Given the description of an element on the screen output the (x, y) to click on. 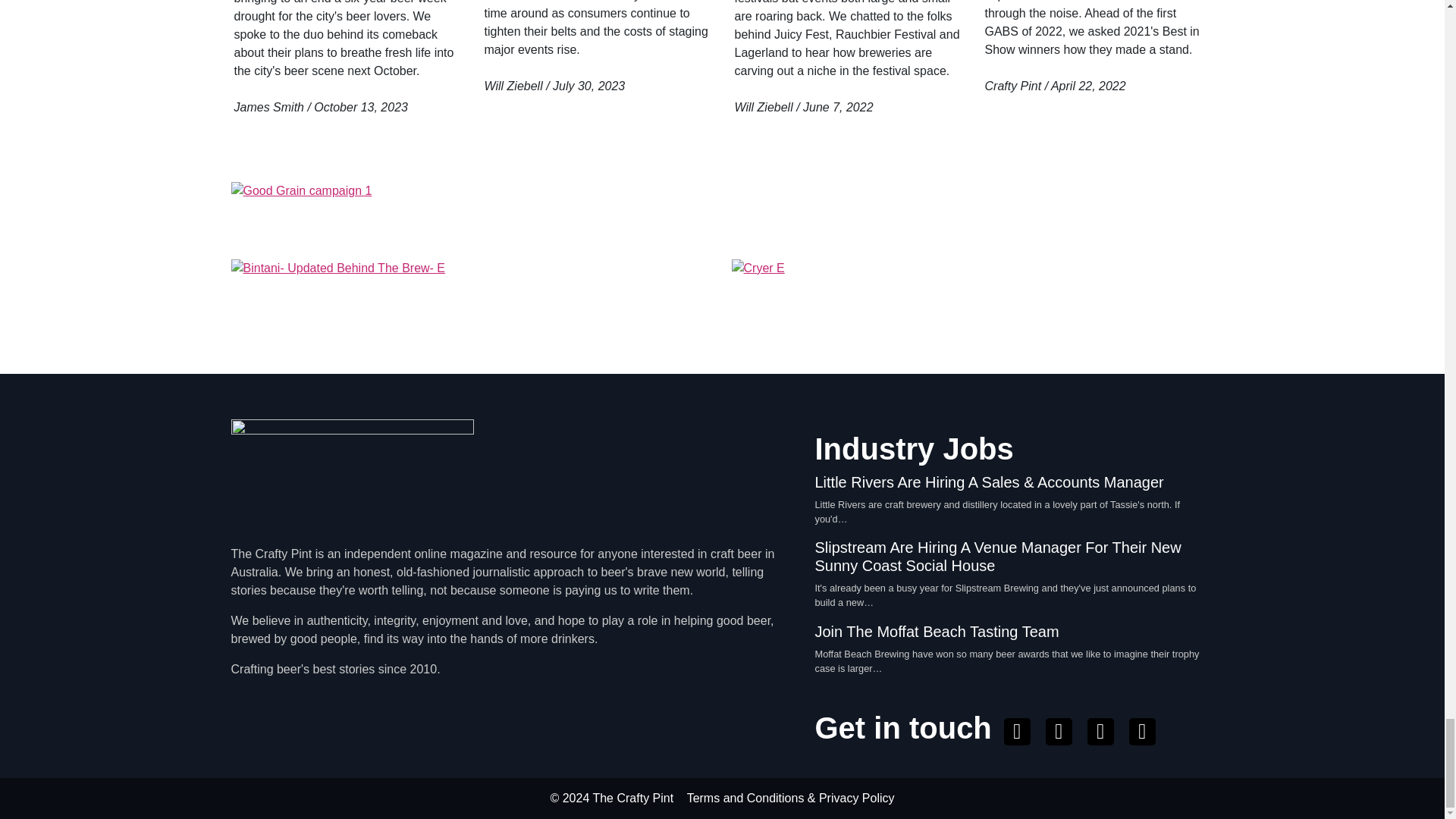
Good Grain campaign 1 (721, 214)
Bintani- Updated Behind The Brew- E (471, 299)
Cryer E (971, 299)
